Given the description of an element on the screen output the (x, y) to click on. 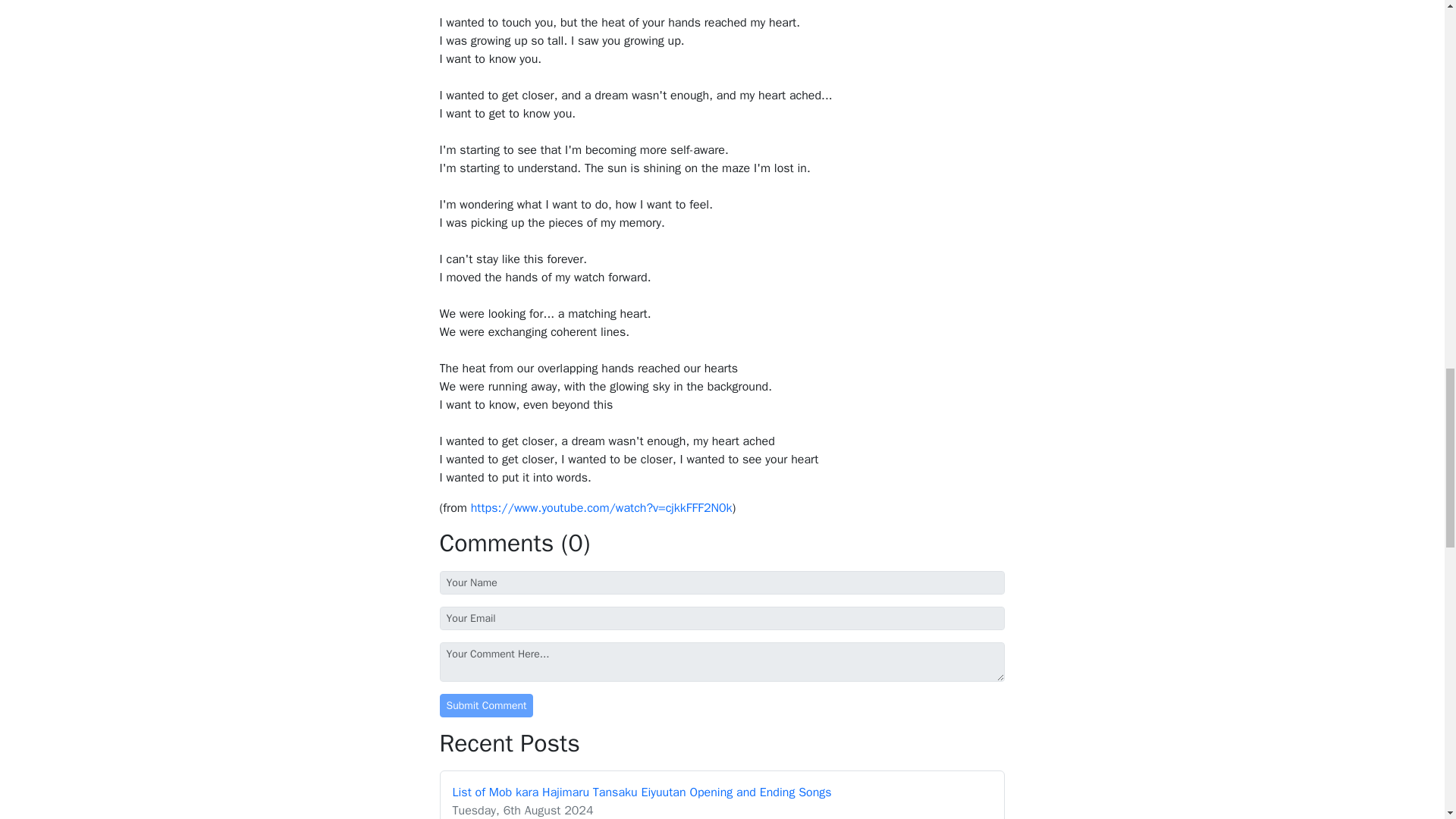
Submit Comment (486, 705)
Submit Comment (486, 705)
